Given the description of an element on the screen output the (x, y) to click on. 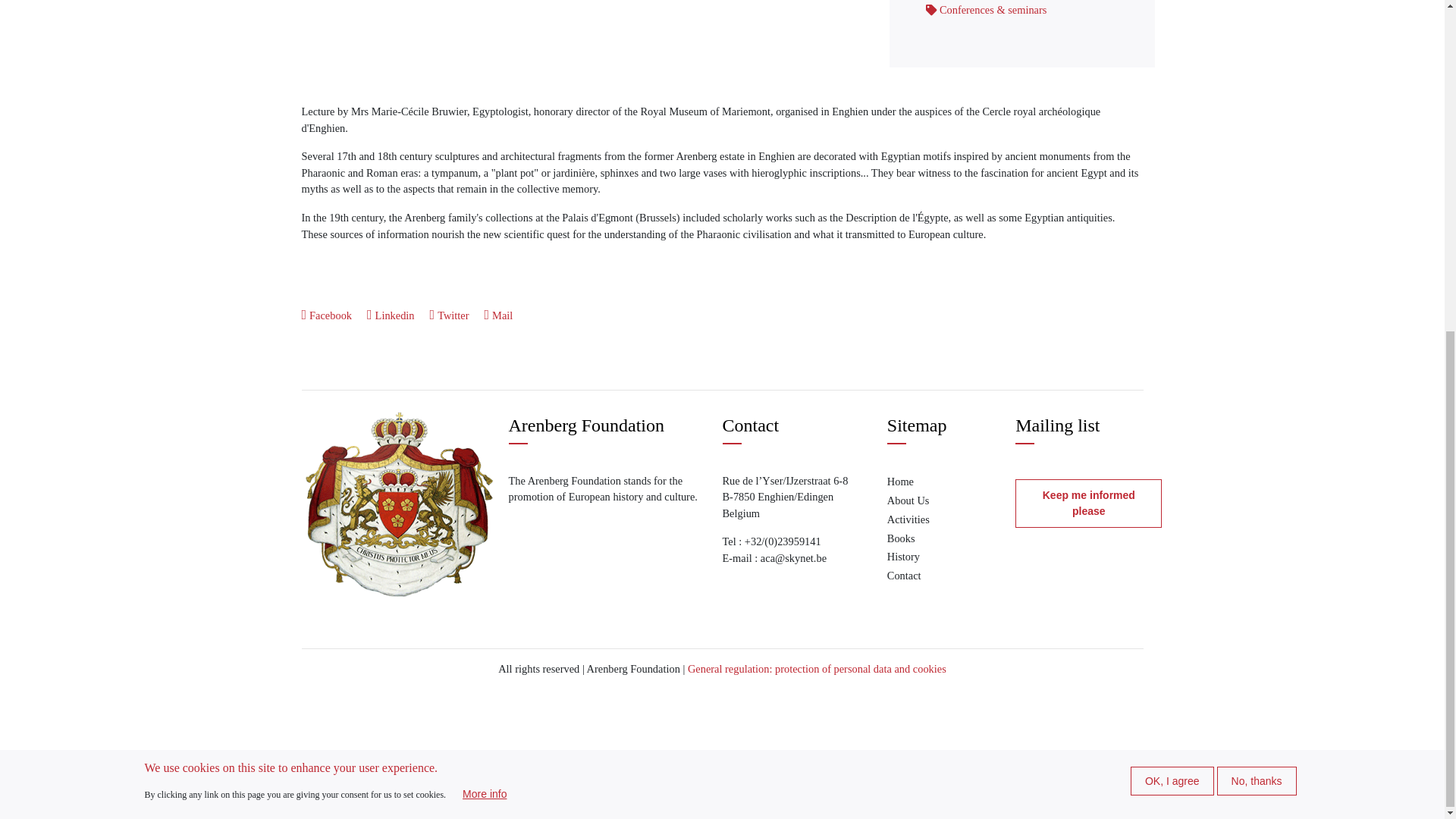
Facebook (326, 315)
Twitter (448, 315)
Contact (914, 576)
Linkedin (390, 315)
Books (914, 538)
No, thanks (1257, 228)
OK, I agree (1172, 228)
Mail (498, 315)
About Us (914, 500)
General regulation: protection of personal data and cookies (816, 668)
